Given the description of an element on the screen output the (x, y) to click on. 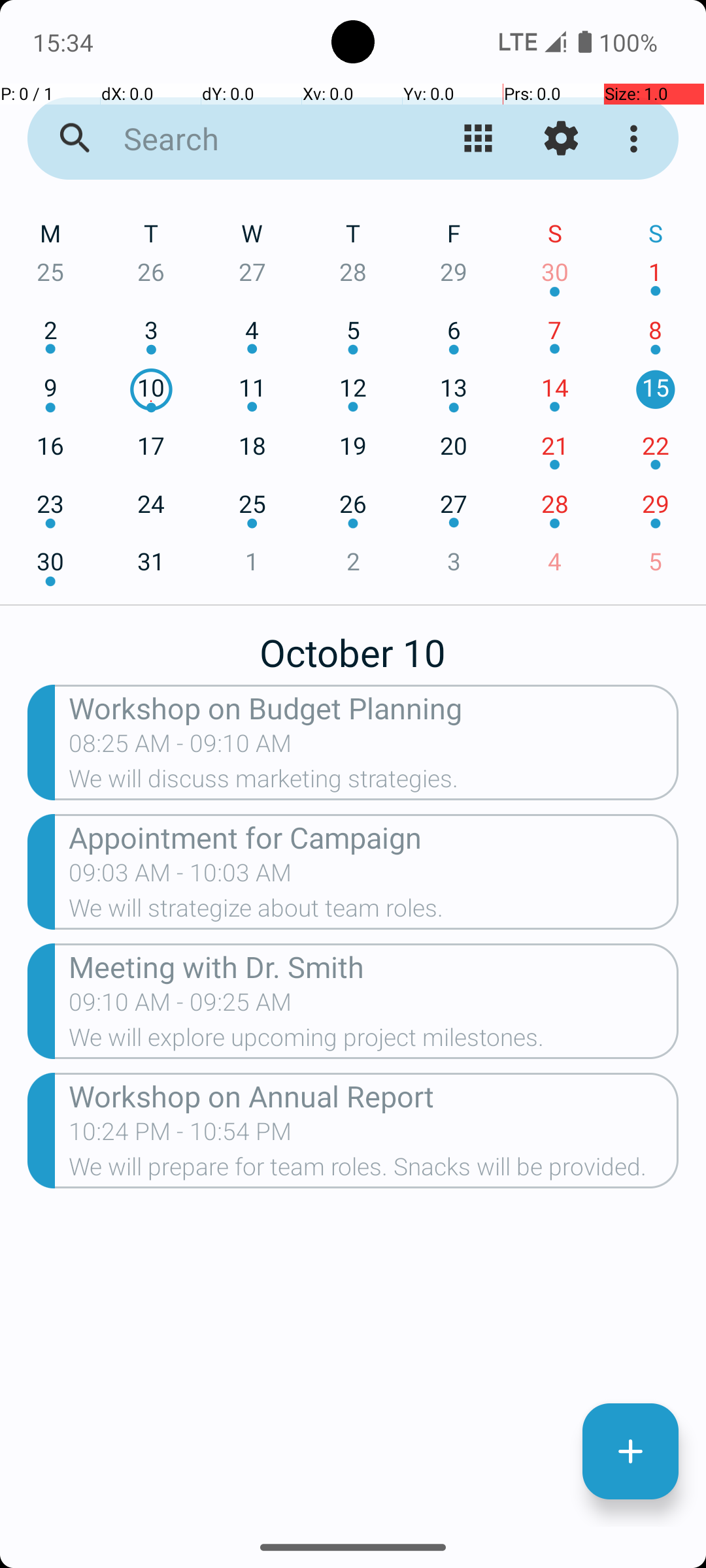
October 10 Element type: android.widget.TextView (352, 644)
08:25 AM - 09:10 AM Element type: android.widget.TextView (179, 747)
We will discuss marketing strategies. Element type: android.widget.TextView (373, 782)
09:03 AM - 10:03 AM Element type: android.widget.TextView (179, 876)
We will strategize about team roles. Element type: android.widget.TextView (373, 911)
09:10 AM - 09:25 AM Element type: android.widget.TextView (179, 1005)
We will explore upcoming project milestones. Element type: android.widget.TextView (373, 1041)
10:24 PM - 10:54 PM Element type: android.widget.TextView (179, 1135)
We will prepare for team roles. Snacks will be provided. Element type: android.widget.TextView (373, 1170)
